Given the description of an element on the screen output the (x, y) to click on. 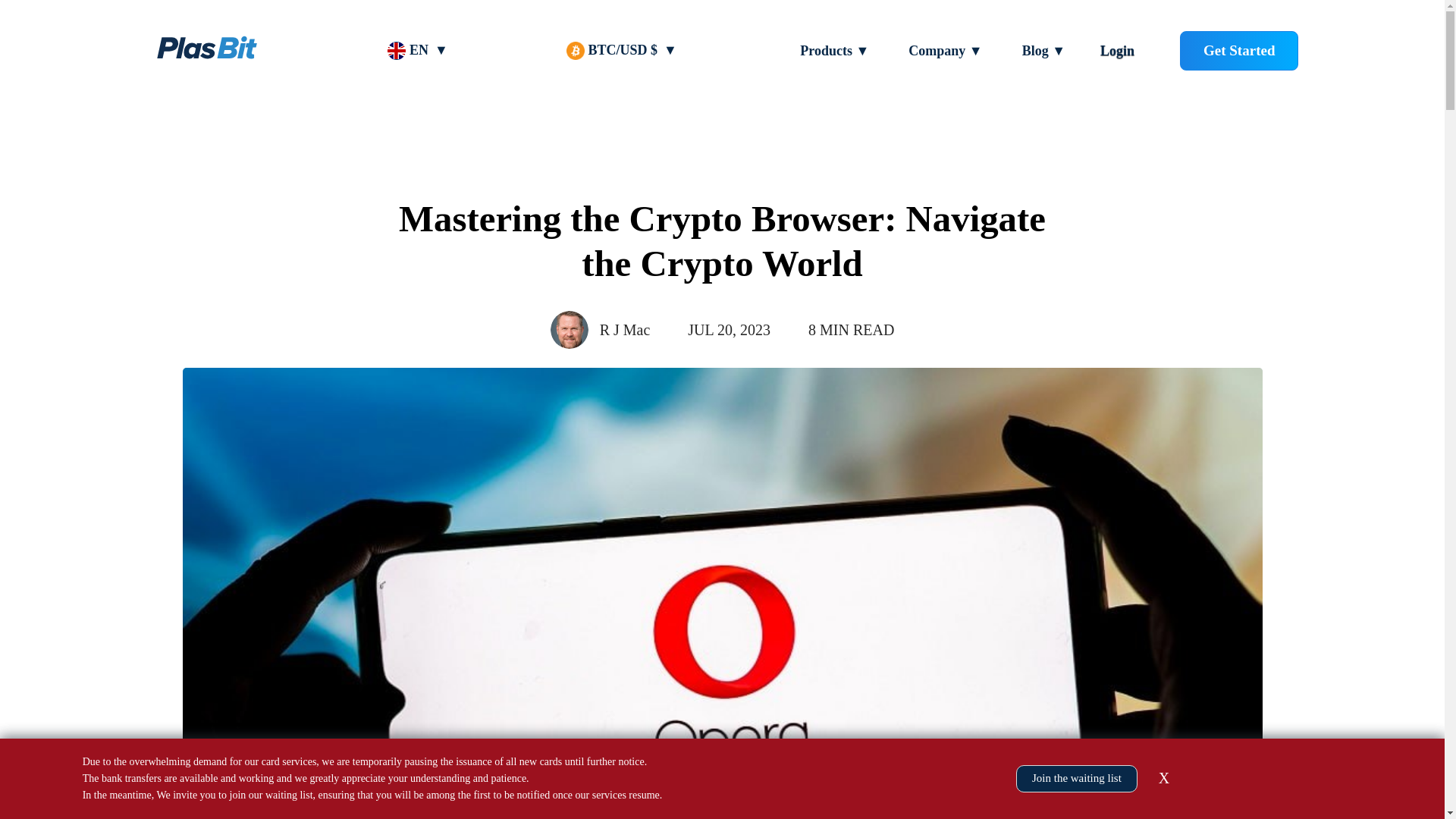
Get Started (1238, 50)
R J Mac (624, 331)
Live chat (1401, 782)
Login (1117, 50)
Blog (1035, 50)
